Given the description of an element on the screen output the (x, y) to click on. 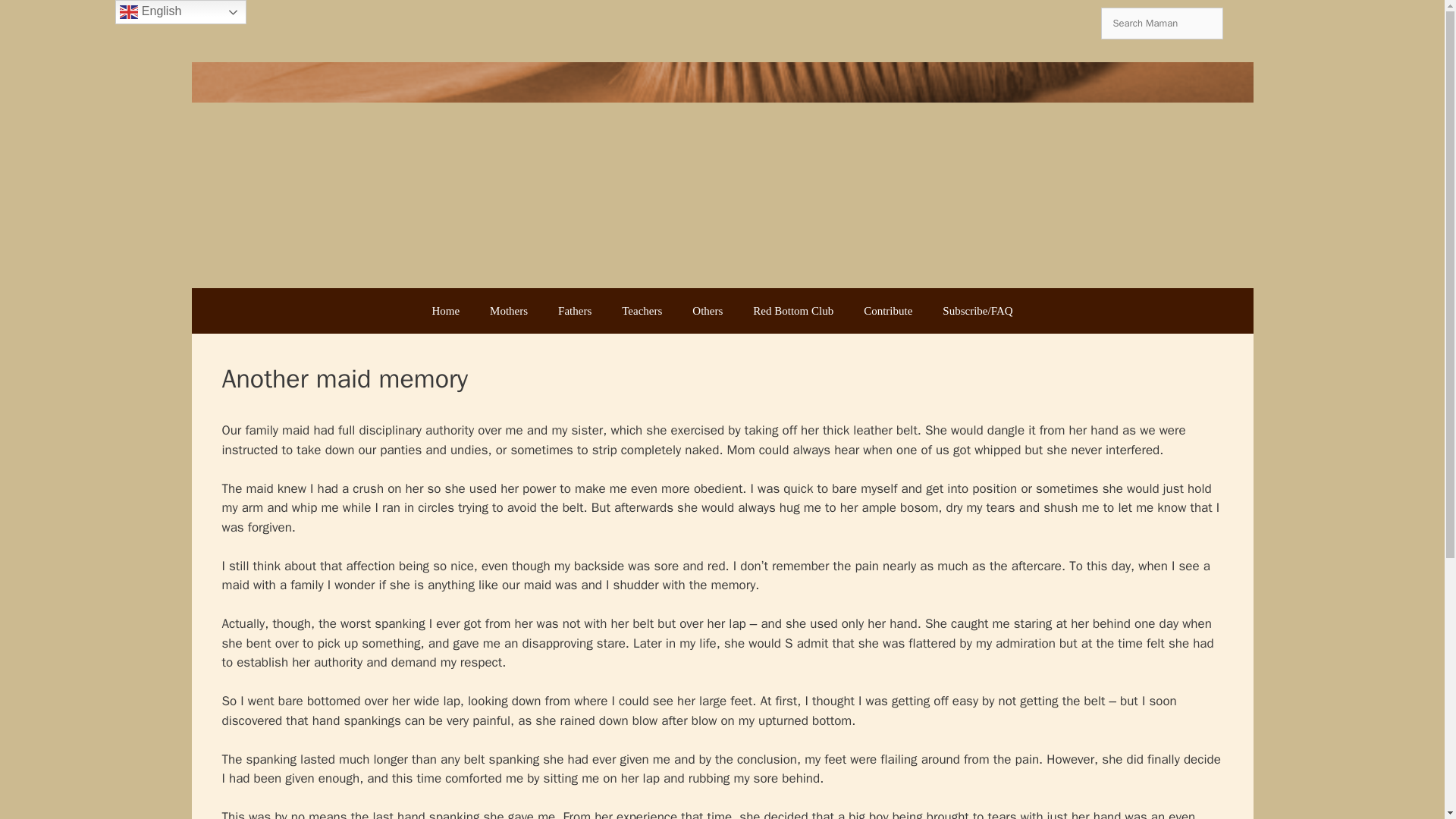
Home (445, 310)
Search (37, 19)
Mothers (508, 310)
Contribute (887, 310)
English (180, 12)
Fathers (575, 310)
Teachers (642, 310)
Others (707, 310)
Search for: (1161, 23)
Red Bottom Club (793, 310)
